Given the description of an element on the screen output the (x, y) to click on. 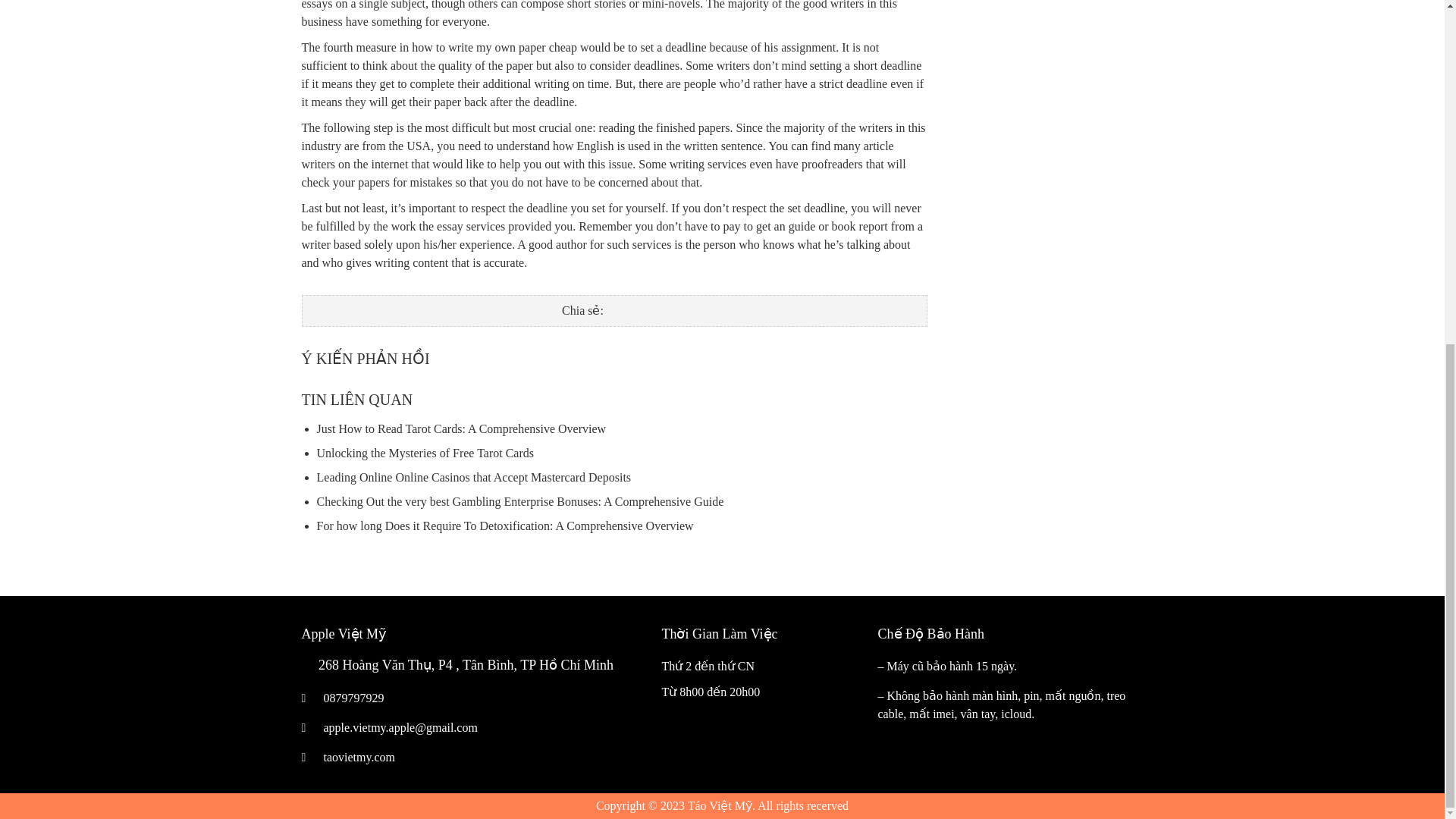
Unlocking the Mysteries of Free Tarot Cards (425, 452)
Just How to Read Tarot Cards: A Comprehensive Overview (462, 428)
Just How to Read Tarot Cards: A Comprehensive Overview (462, 428)
Unlocking the Mysteries of Free Tarot Cards (425, 452)
